Given the description of an element on the screen output the (x, y) to click on. 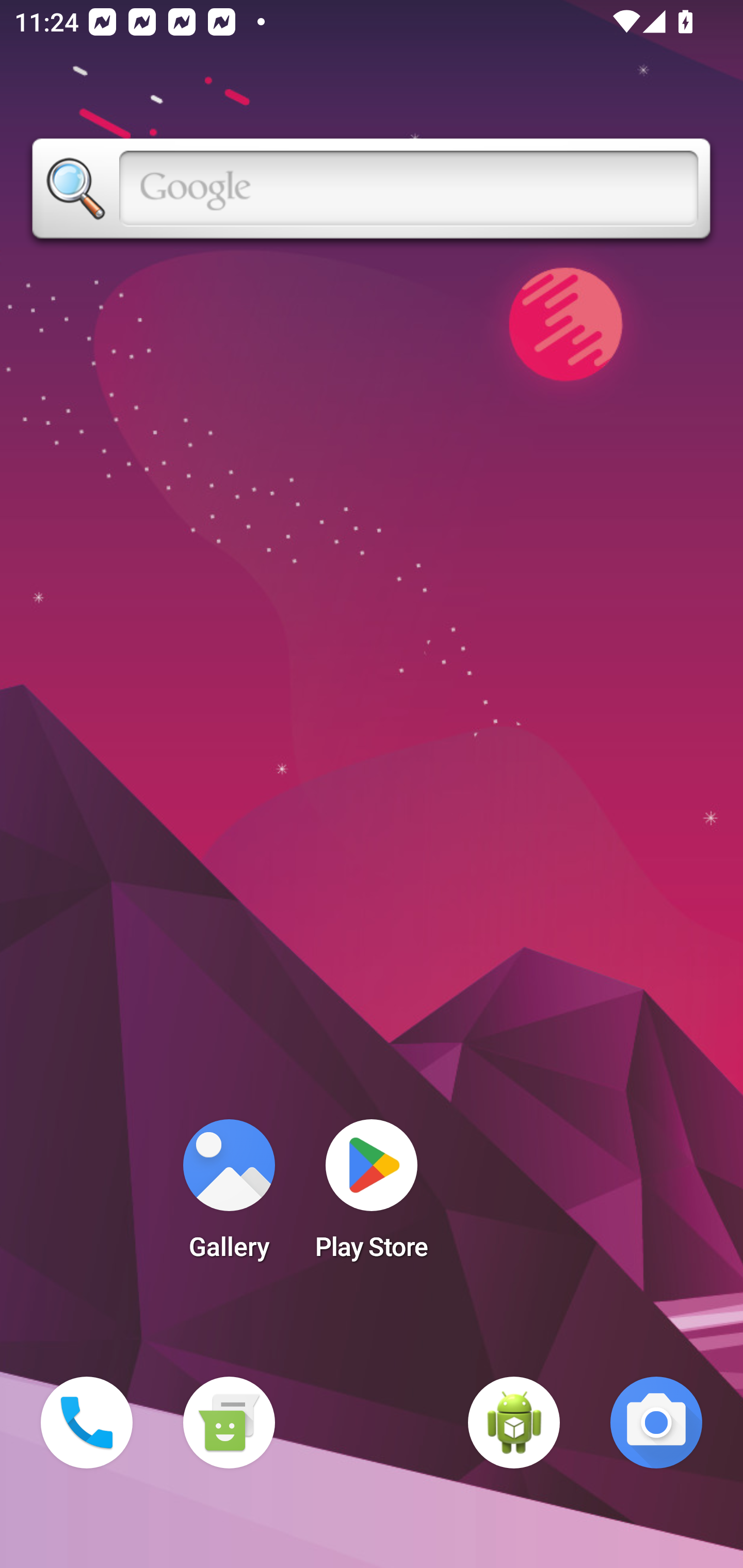
Gallery (228, 1195)
Play Store (371, 1195)
Phone (86, 1422)
Messaging (228, 1422)
WebView Browser Tester (513, 1422)
Camera (656, 1422)
